Given the description of an element on the screen output the (x, y) to click on. 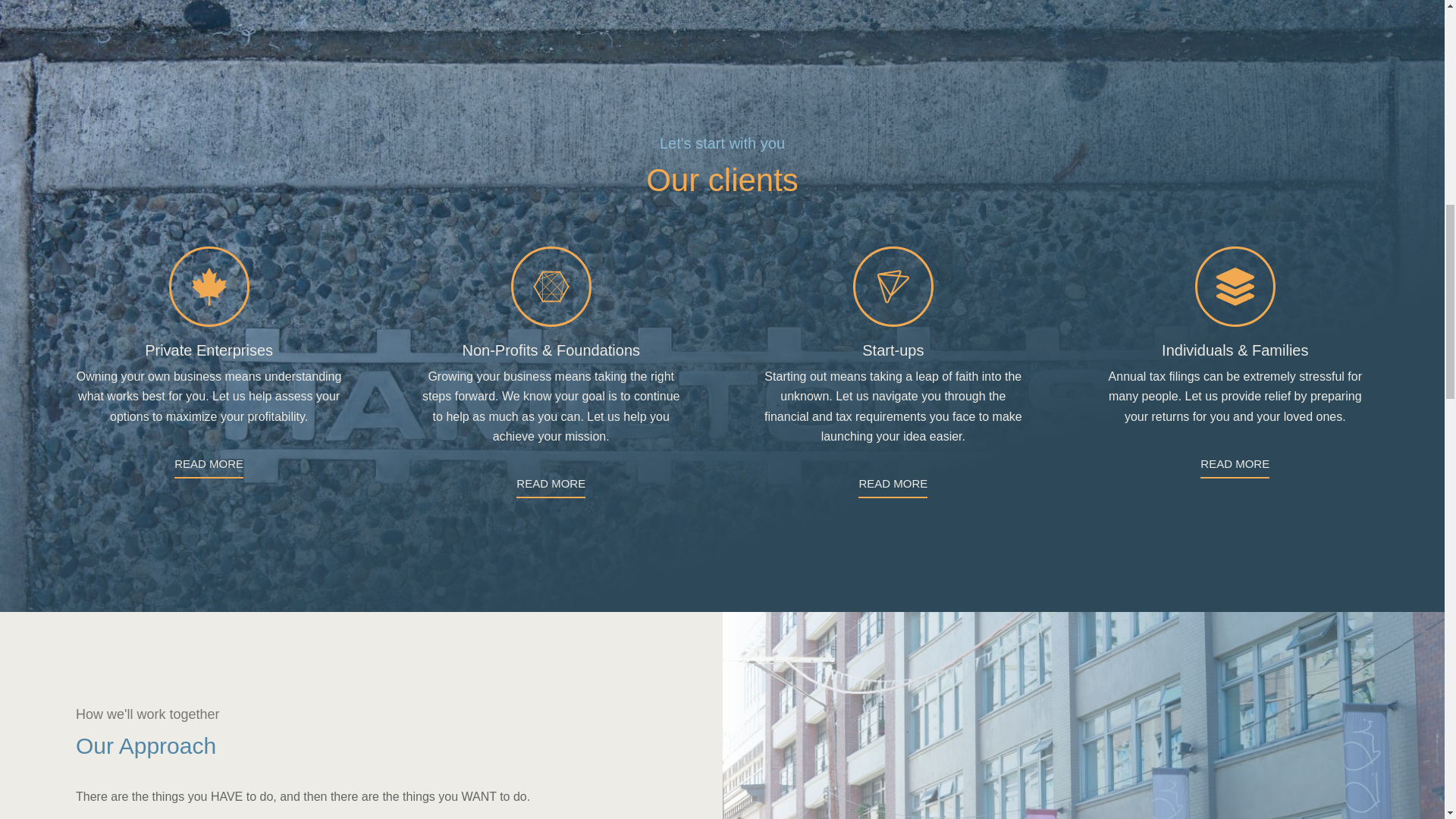
READ MORE (1234, 467)
READ MORE (550, 487)
READ MORE (208, 467)
READ MORE (893, 487)
